Given the description of an element on the screen output the (x, y) to click on. 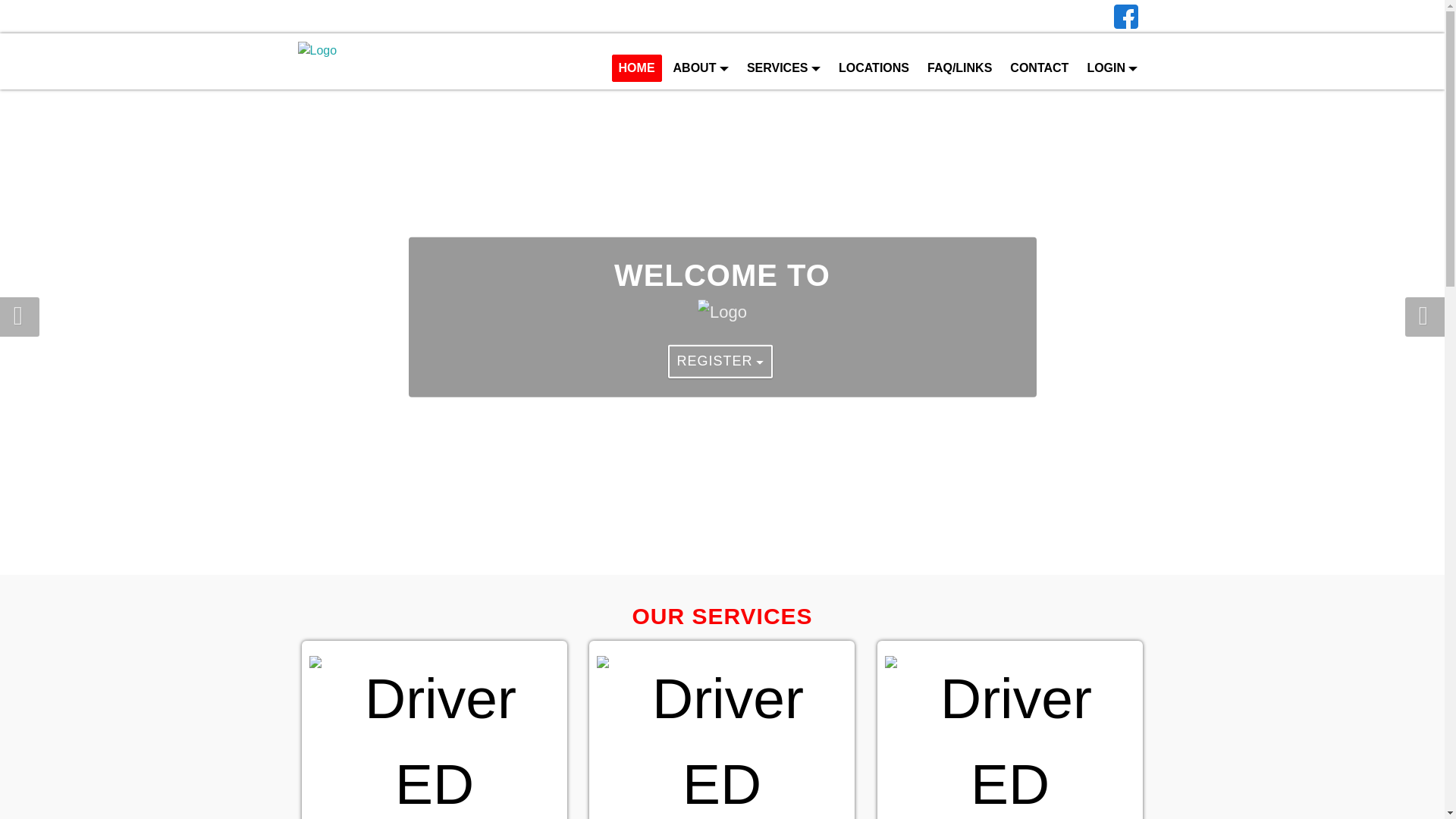
HOME (636, 67)
LOCATIONS (873, 67)
ABOUT (700, 67)
CONTACT (1039, 67)
Student Portal (735, 16)
REGISTER (720, 361)
SERVICES (783, 67)
LOGIN (1112, 67)
